Given the description of an element on the screen output the (x, y) to click on. 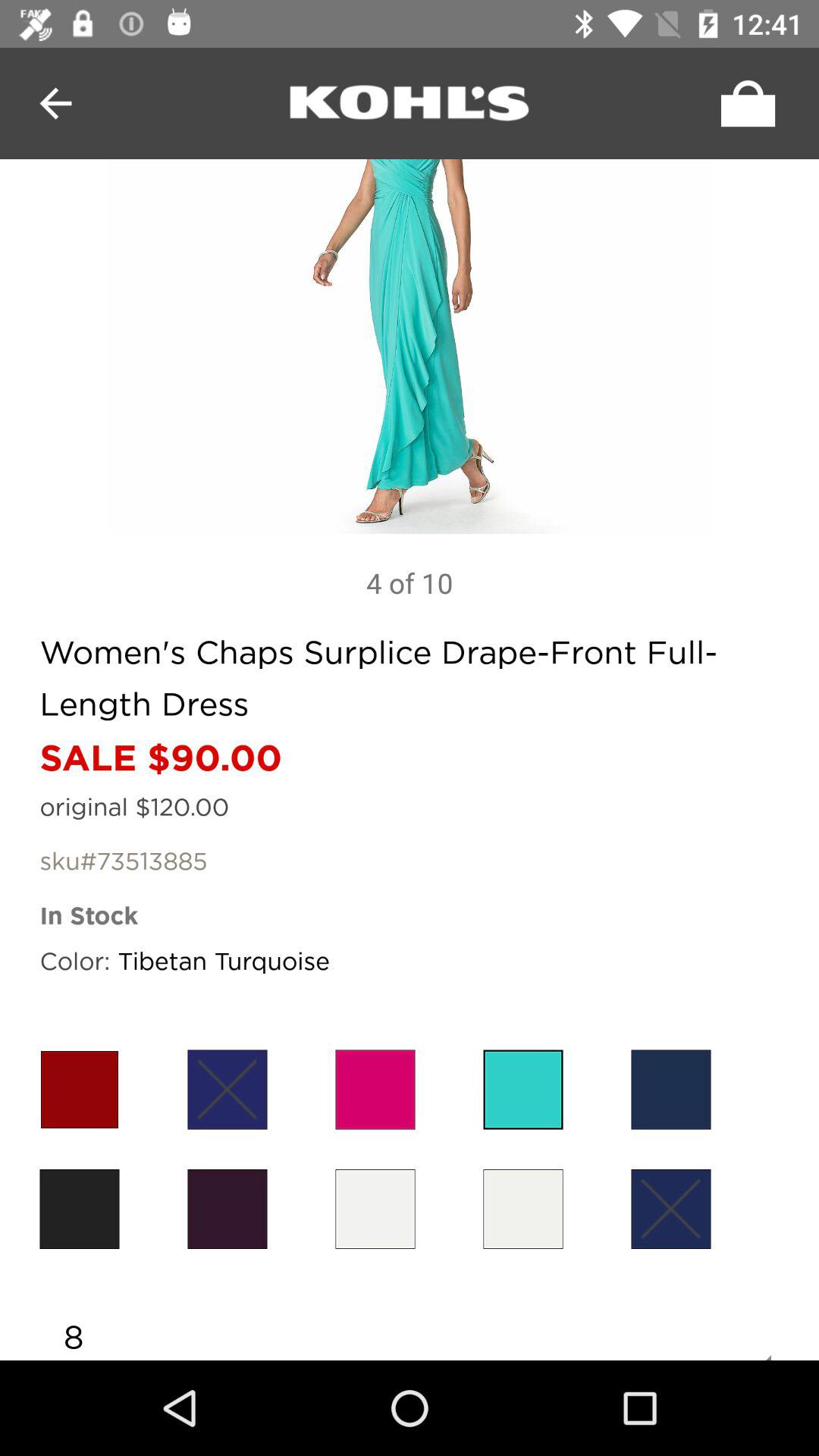
light brown dress (79, 1208)
